Given the description of an element on the screen output the (x, y) to click on. 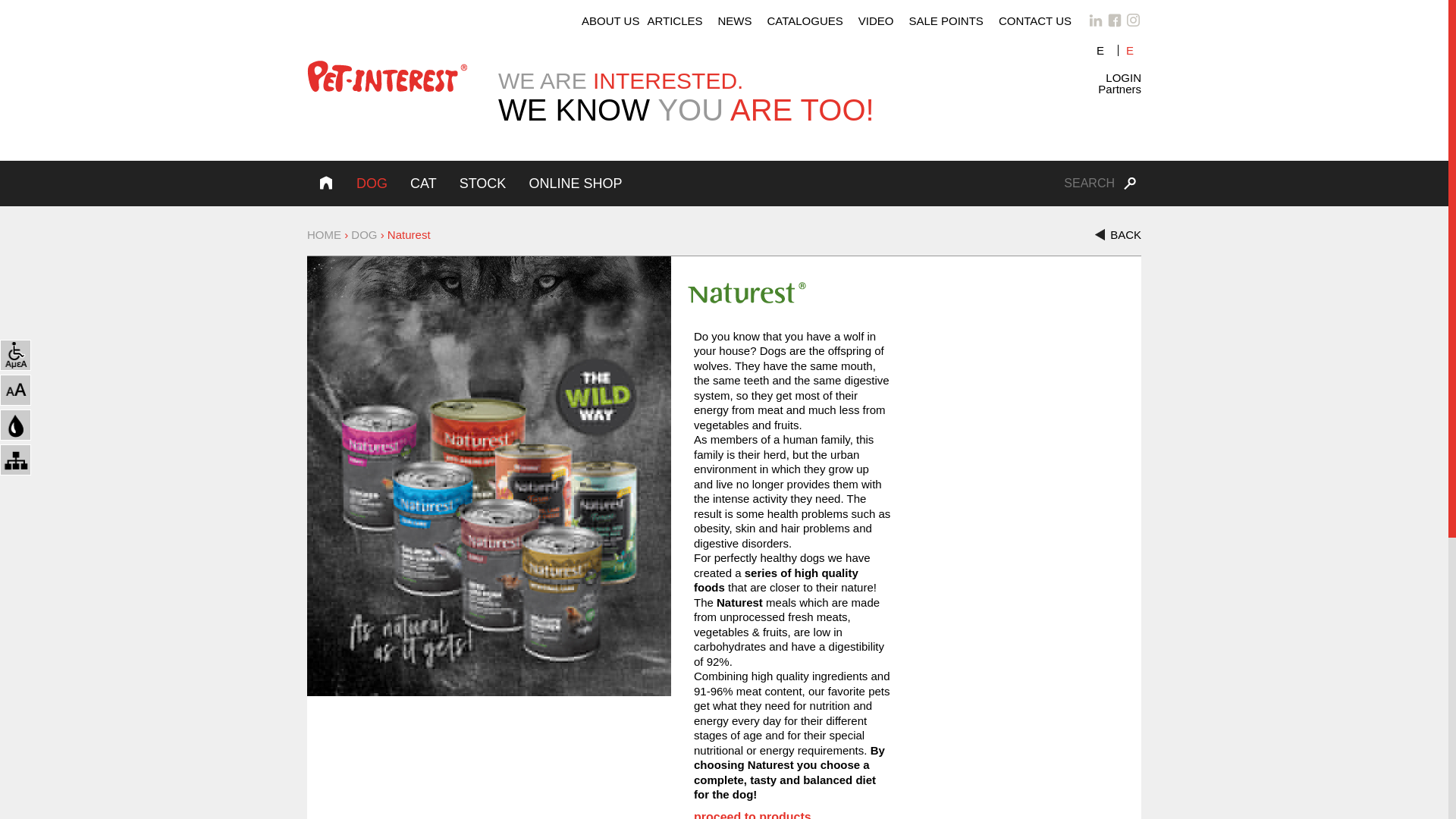
fb (1114, 20)
GO HOME PAGE (387, 78)
DOG (363, 234)
CATALOGUES (805, 20)
CAT (423, 183)
Facebook link (1114, 20)
ONLINE SHOP (574, 183)
VIDEO (875, 20)
ARTICLES (674, 20)
lin (1095, 20)
